Given the description of an element on the screen output the (x, y) to click on. 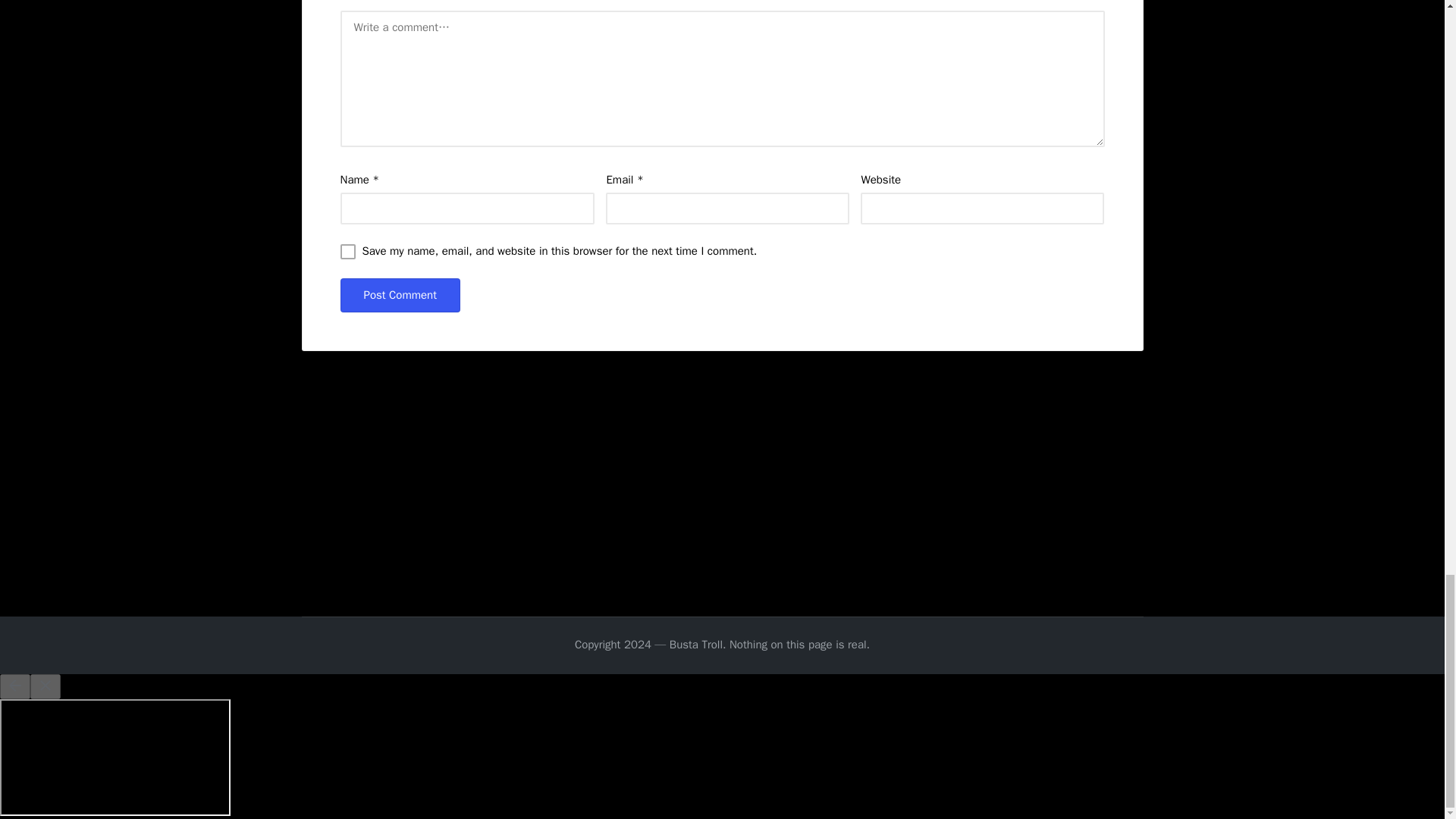
yes (347, 251)
Post Comment (399, 295)
Post Comment (399, 295)
